Given the description of an element on the screen output the (x, y) to click on. 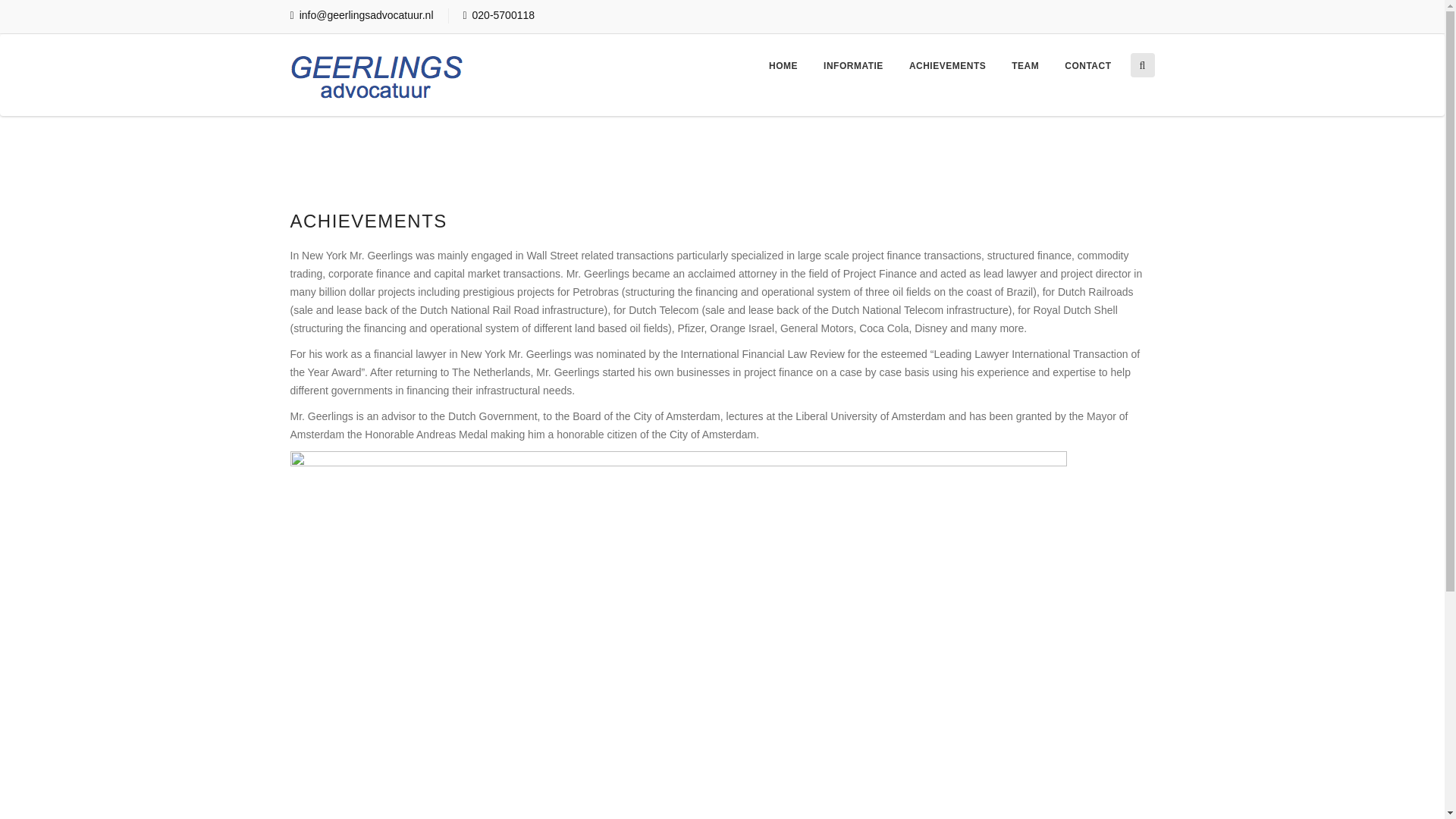
TEAM (1025, 66)
Go (263, 66)
ACHIEVEMENTS (946, 66)
HOME (783, 66)
020-5700118 (498, 15)
INFORMATIE (852, 66)
Geerlings Advocatuur (376, 74)
CONTACT (1087, 66)
